Given the description of an element on the screen output the (x, y) to click on. 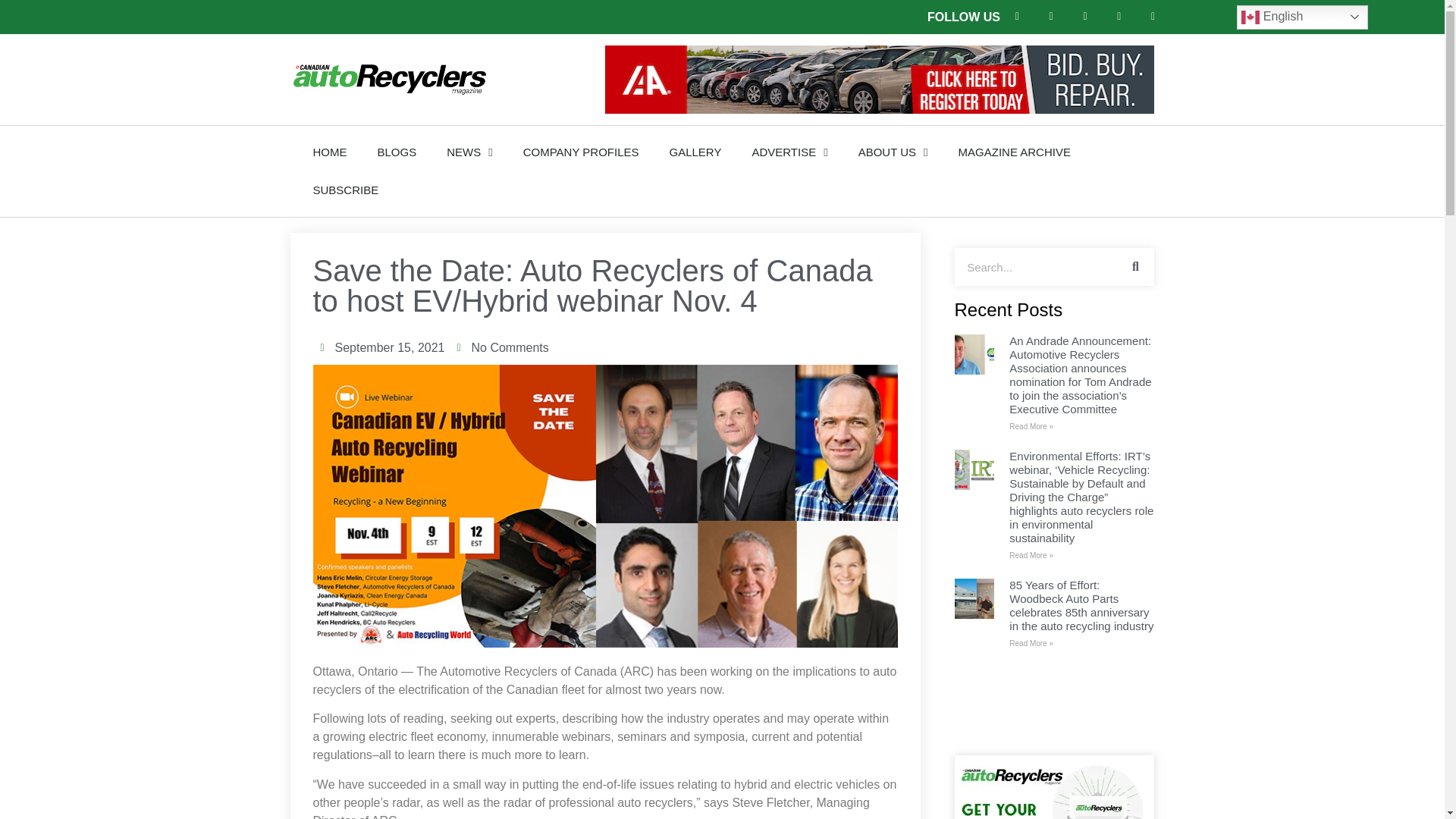
ADVERTISE (789, 152)
Advertisement (1053, 703)
ABOUT US (893, 152)
SUBSCRIBE (345, 190)
COMPANY PROFILES (580, 152)
MAGAZINE ARCHIVE (1014, 152)
English (1302, 16)
GALLERY (694, 152)
BLOGS (397, 152)
HOME (329, 152)
NEWS (468, 152)
